Given the description of an element on the screen output the (x, y) to click on. 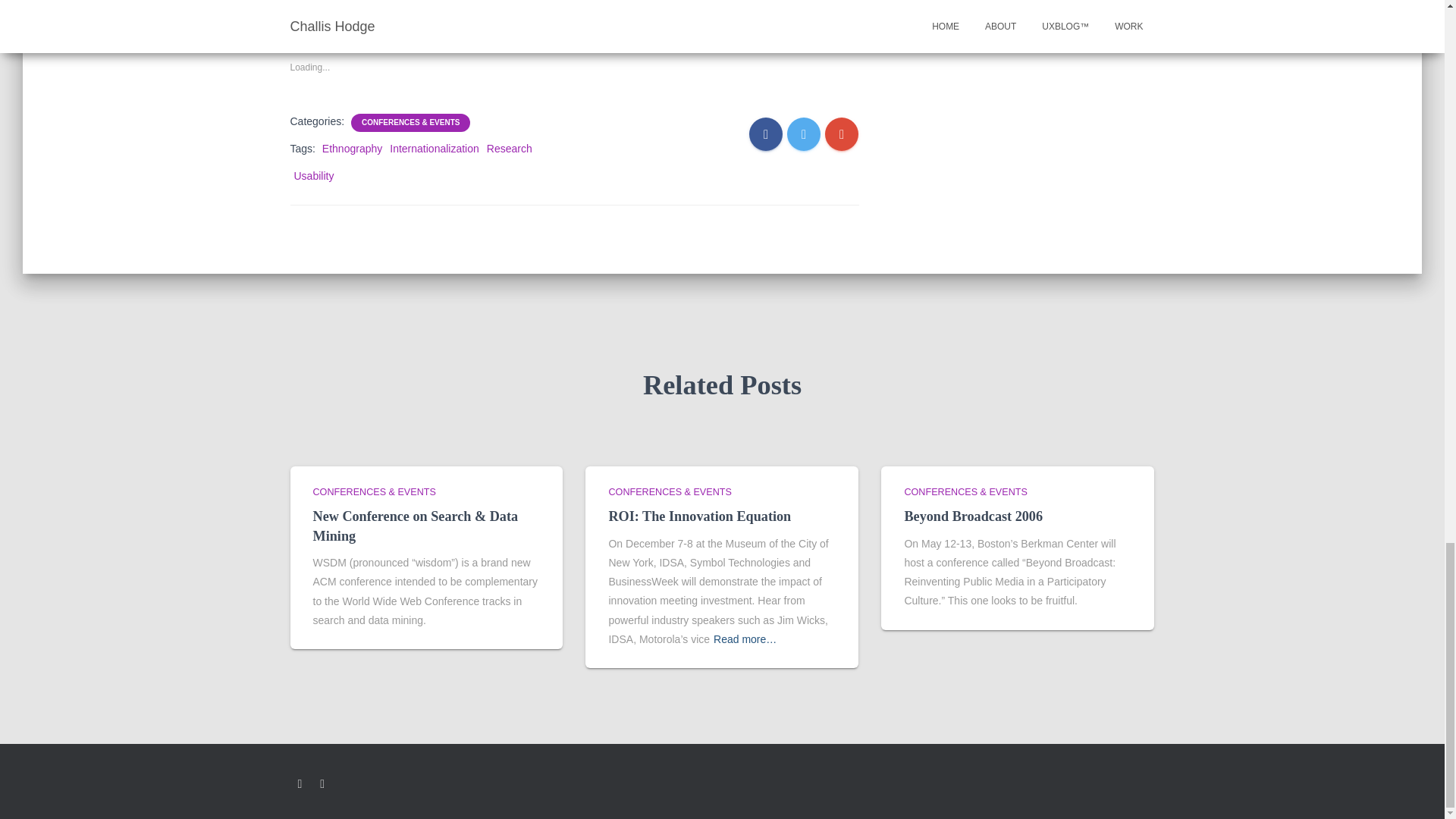
Beyond Broadcast 2006 (973, 516)
Beyond Broadcast 2006 (973, 516)
Internationalization (434, 148)
ROI: The Innovation Equation (699, 516)
Ethnography (351, 148)
ROI: The Innovation Equation (699, 516)
Usability (314, 175)
Research (509, 148)
